Given the description of an element on the screen output the (x, y) to click on. 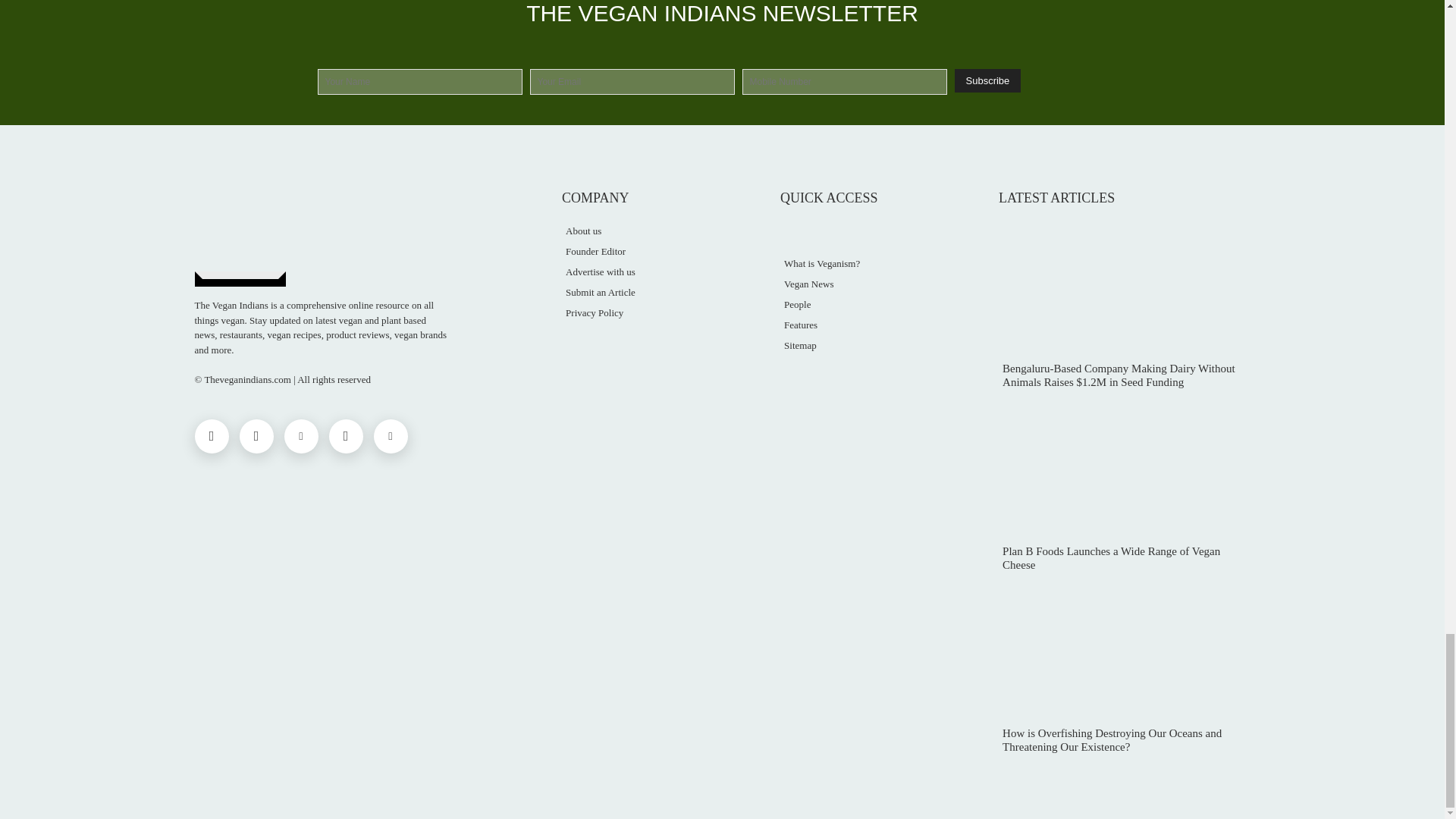
Subscribe (986, 80)
